Given the description of an element on the screen output the (x, y) to click on. 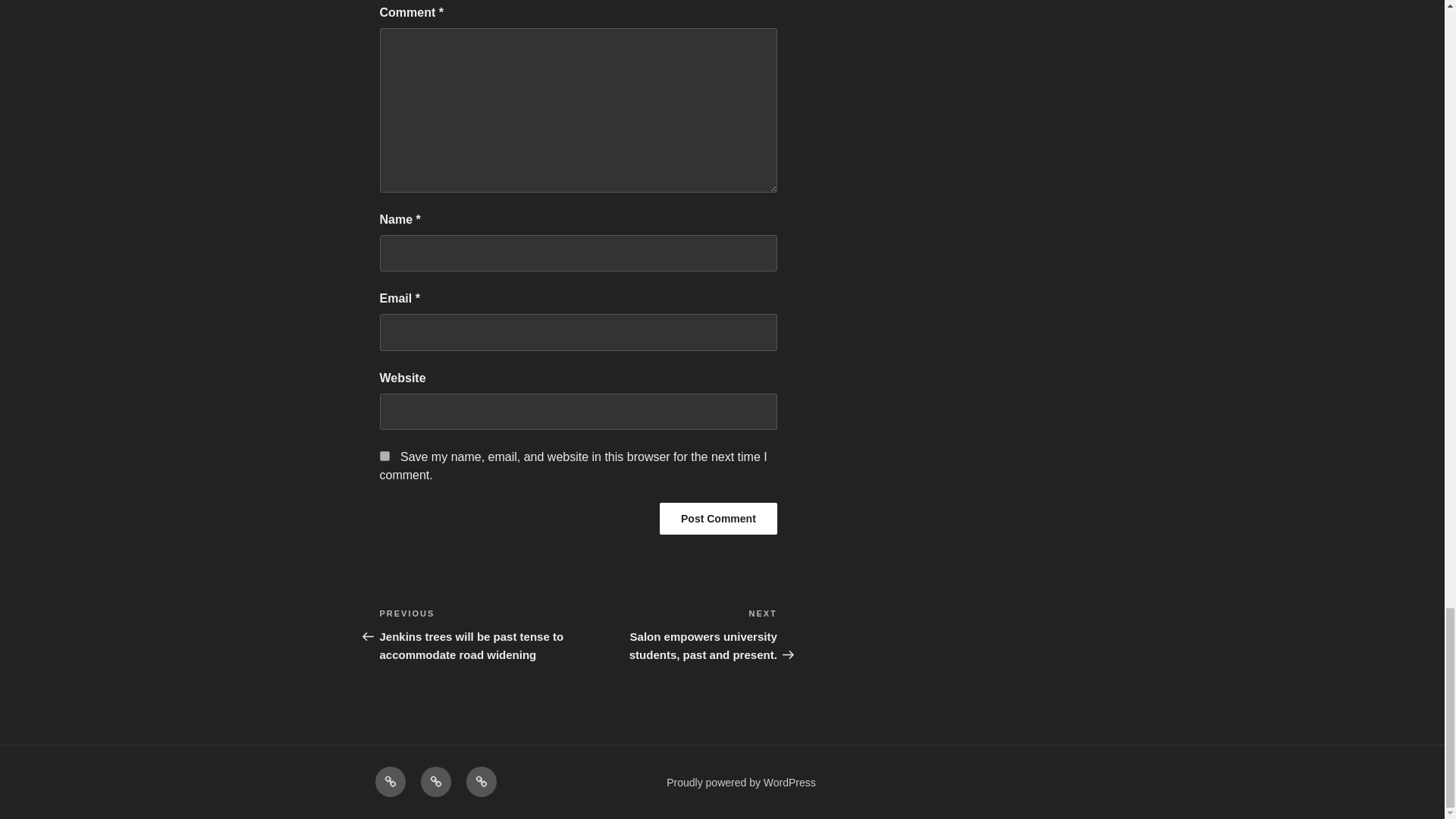
yes (383, 456)
Post Comment (718, 518)
Post Comment (718, 518)
